Given the description of an element on the screen output the (x, y) to click on. 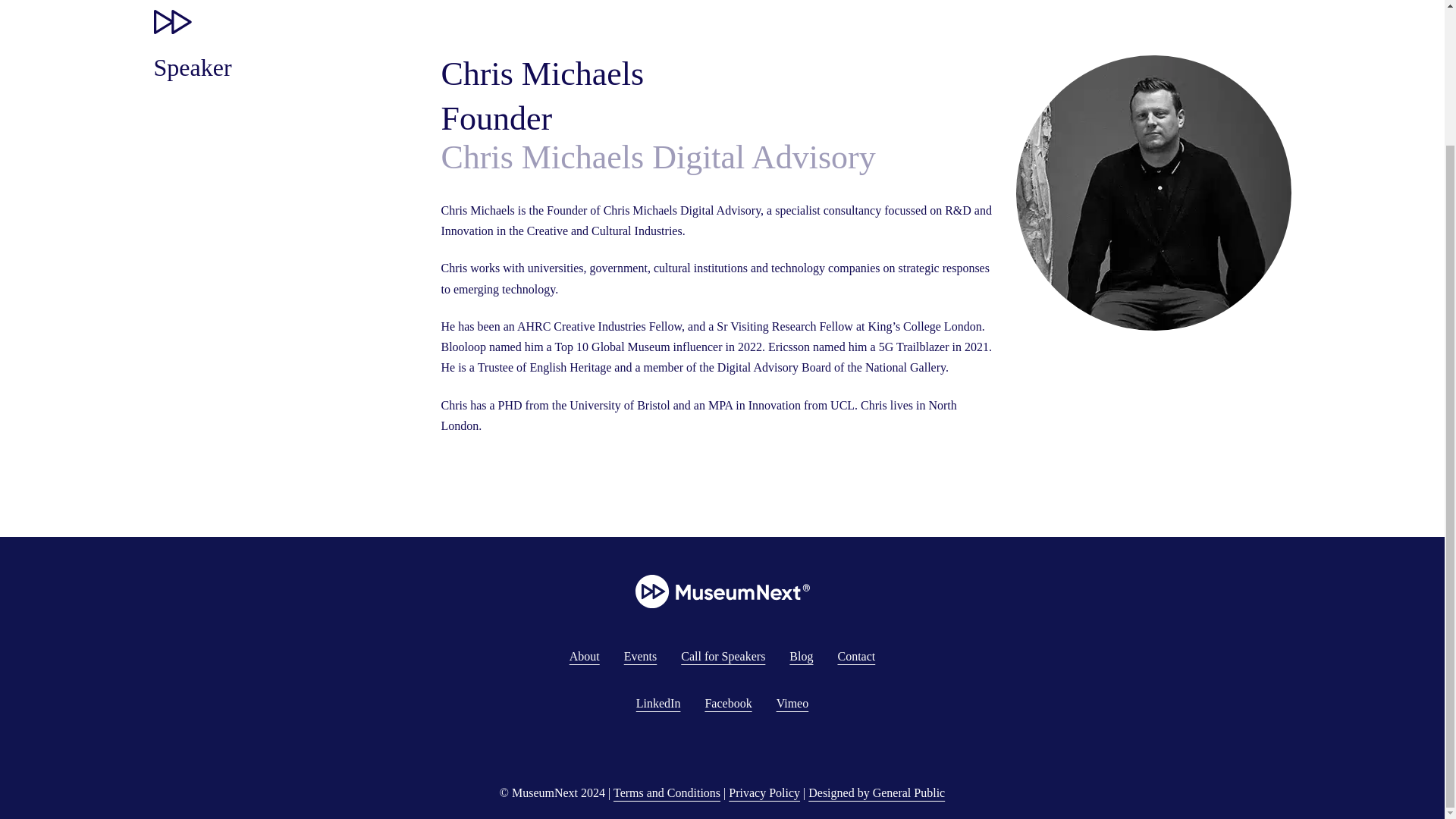
Blog (800, 656)
Vimeo (792, 703)
Events (641, 656)
Terms and Conditions (666, 792)
Privacy Policy (764, 792)
Contact (856, 656)
Call for Speakers (723, 656)
Designed by General Public (876, 792)
LinkedIn (658, 703)
About (584, 656)
Facebook (727, 703)
